Given the description of an element on the screen output the (x, y) to click on. 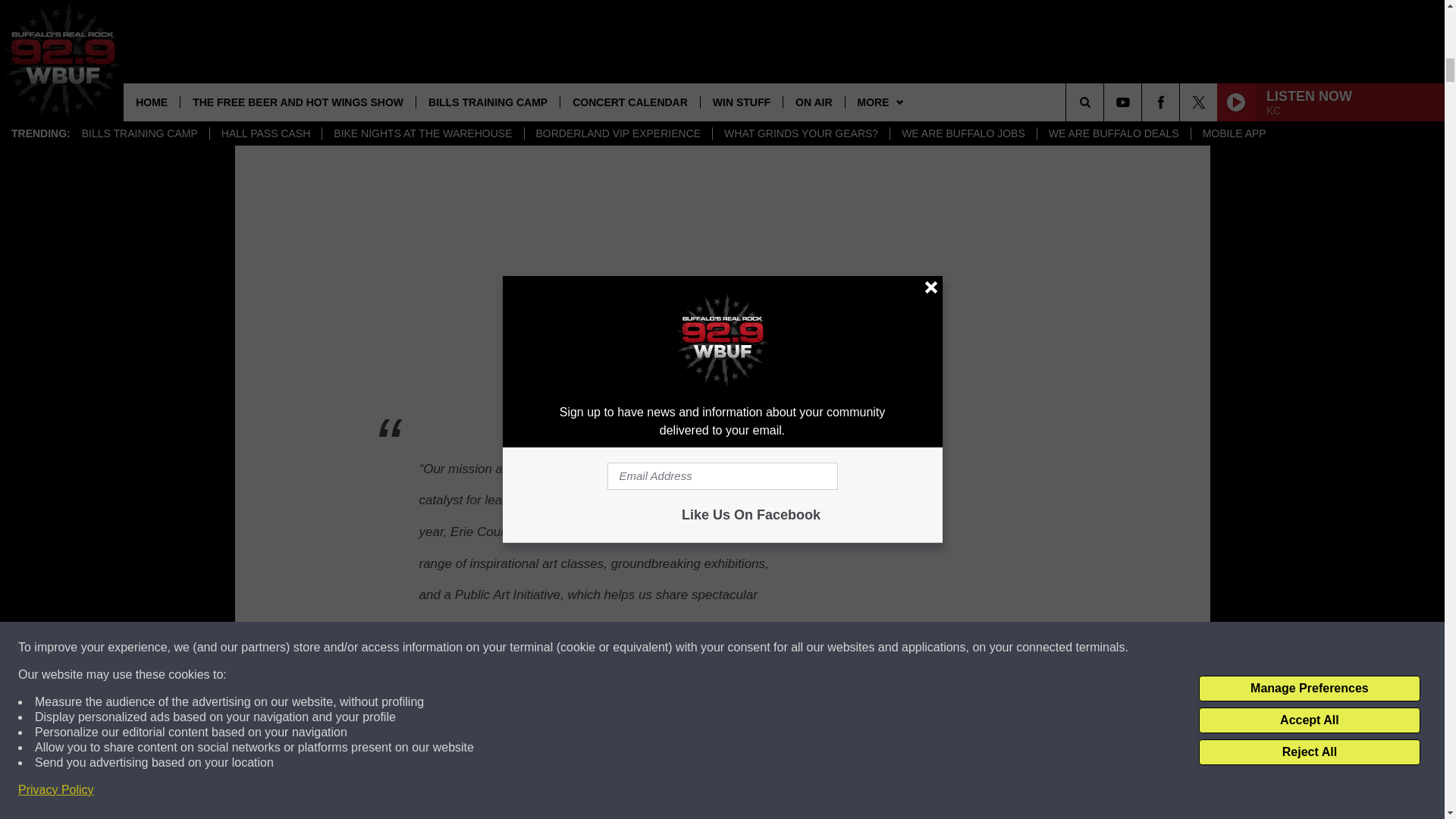
Art Classes for Children and Teens (628, 30)
Art Classes for Children and Teens (579, 30)
Art Classes for Adults (697, 30)
